Given the description of an element on the screen output the (x, y) to click on. 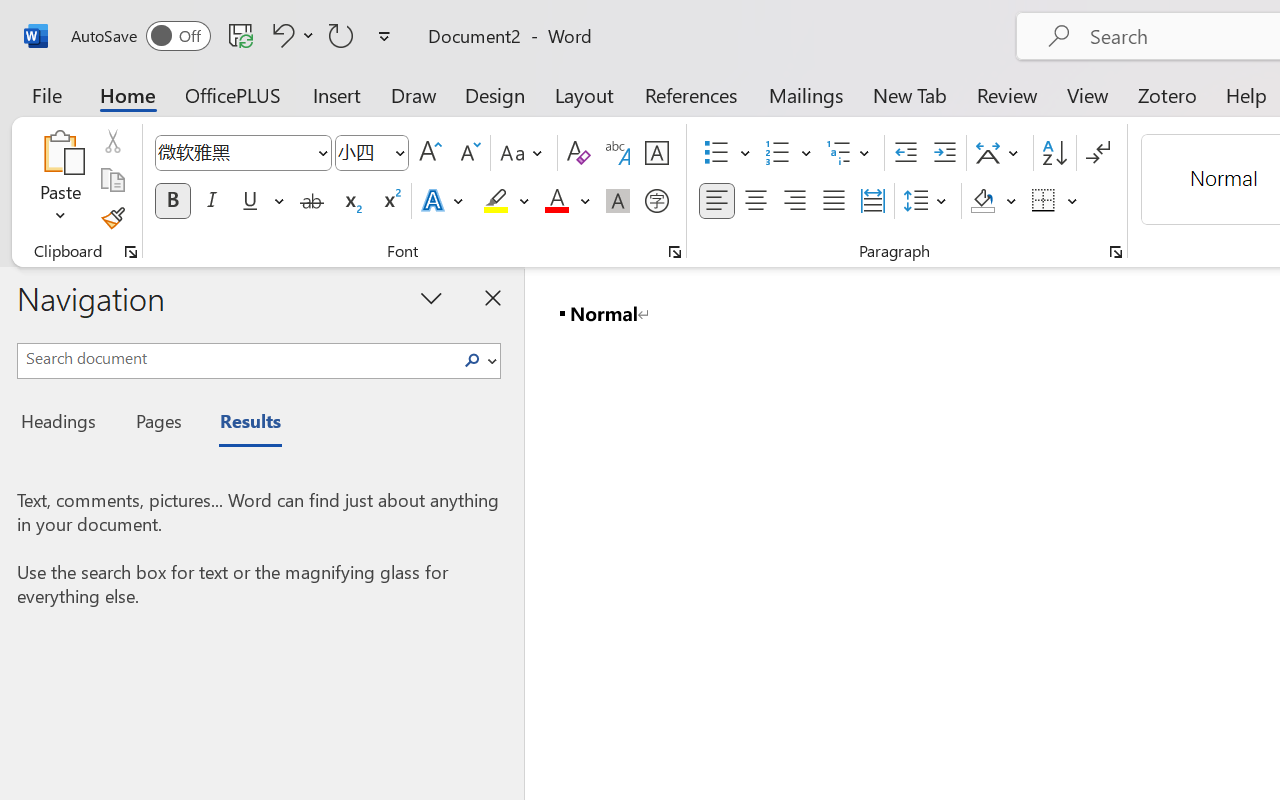
Paste (60, 151)
New Tab (909, 94)
Strikethrough (312, 201)
Zotero (1166, 94)
Open (399, 152)
Home (127, 94)
Undo Text Fill Effect (290, 35)
Character Border (656, 153)
Borders (1044, 201)
Font Color Red (556, 201)
Subscript (350, 201)
Increase Indent (944, 153)
References (690, 94)
Repeat Doc Close (341, 35)
Phonetic Guide... (618, 153)
